Given the description of an element on the screen output the (x, y) to click on. 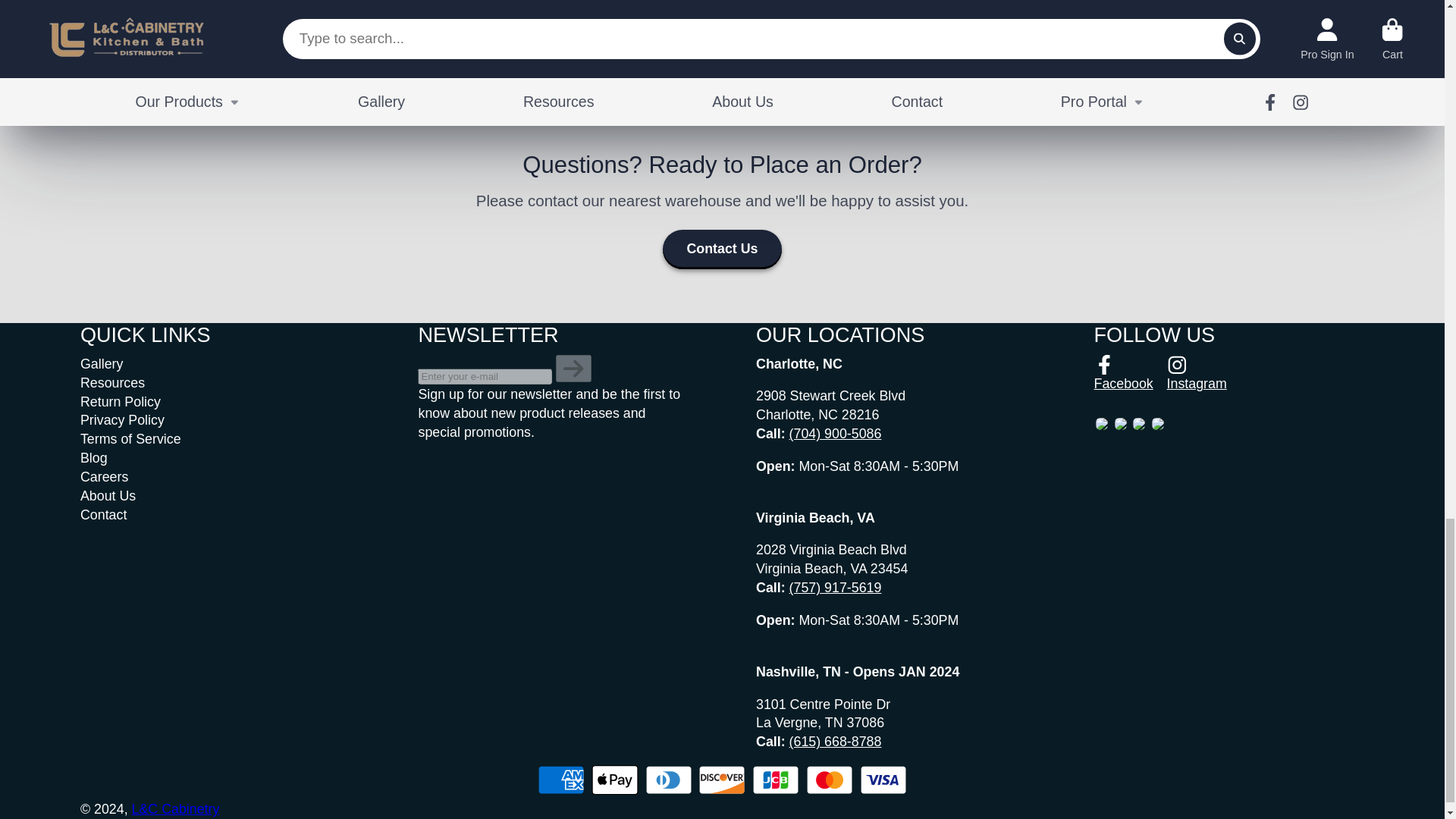
American Express (561, 779)
Discover (721, 779)
Contact Us (721, 249)
Diners Club (668, 779)
JCB (775, 779)
Apple Pay (615, 779)
Visa (883, 779)
Mastercard (829, 779)
Gallery (101, 363)
